Given the description of an element on the screen output the (x, y) to click on. 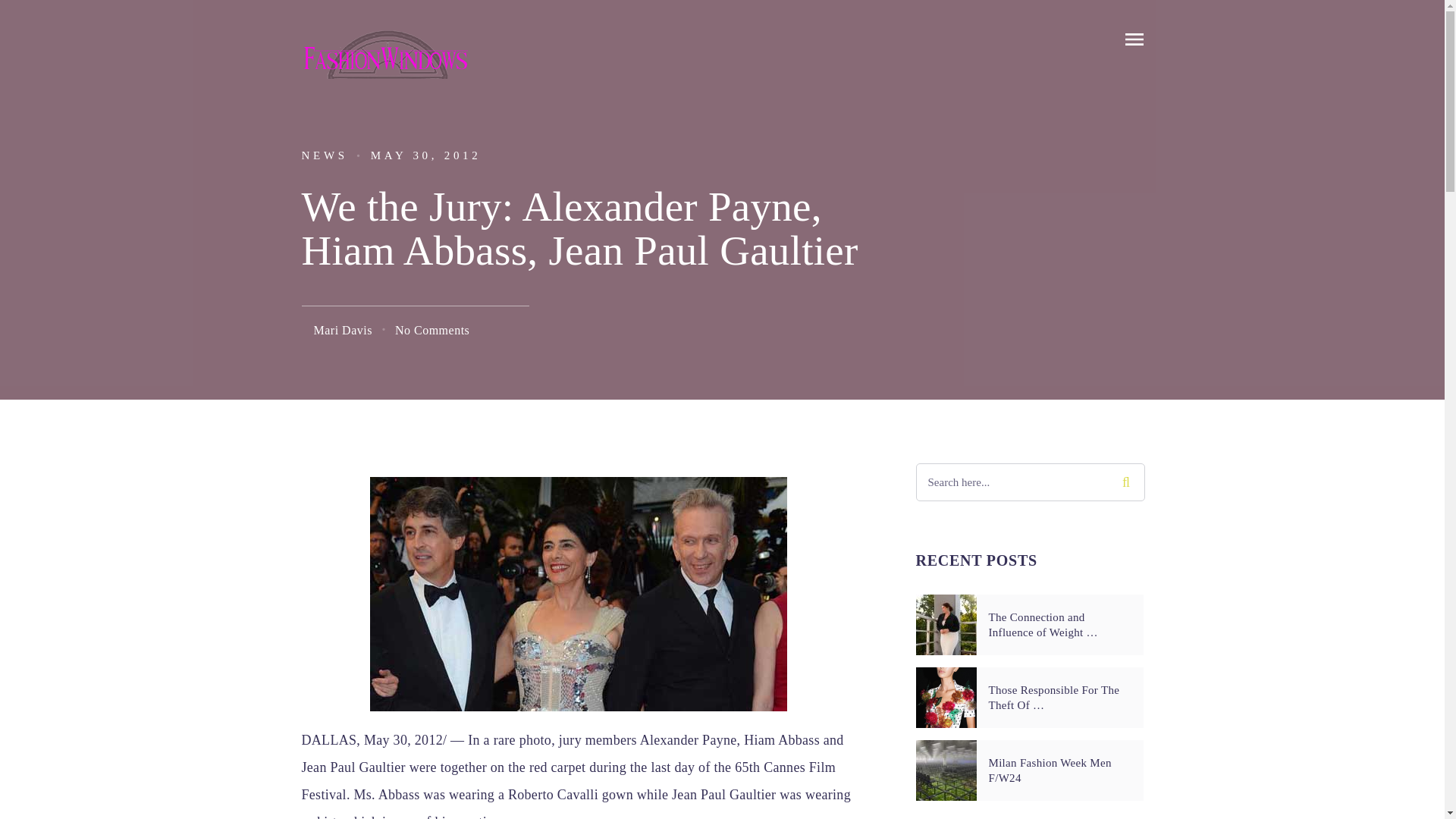
No Comments (431, 329)
View all posts in News (324, 155)
NEWS (324, 155)
Mari Davis (343, 329)
Posts by Mari Davis (343, 329)
